Given the description of an element on the screen output the (x, y) to click on. 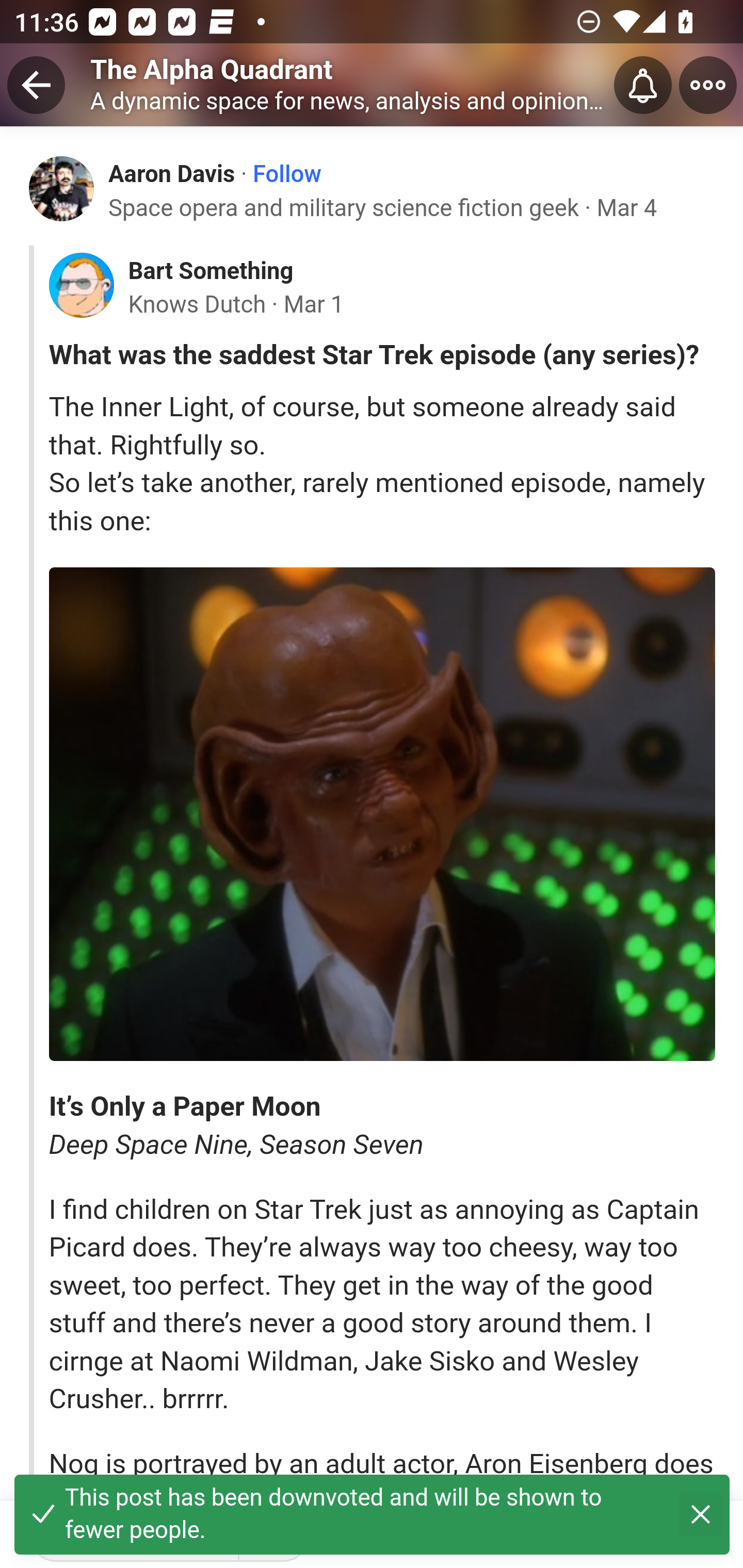
The Alpha Quadrant (211, 68)
Profile photo for Aaron Davis (61, 188)
Aaron Davis (172, 173)
Follow (287, 174)
Profile photo for Bart Something (80, 285)
Bart Something (210, 271)
main-qimg-0a9453f55125d56c38dfed03be596402 (381, 814)
